Given the description of an element on the screen output the (x, y) to click on. 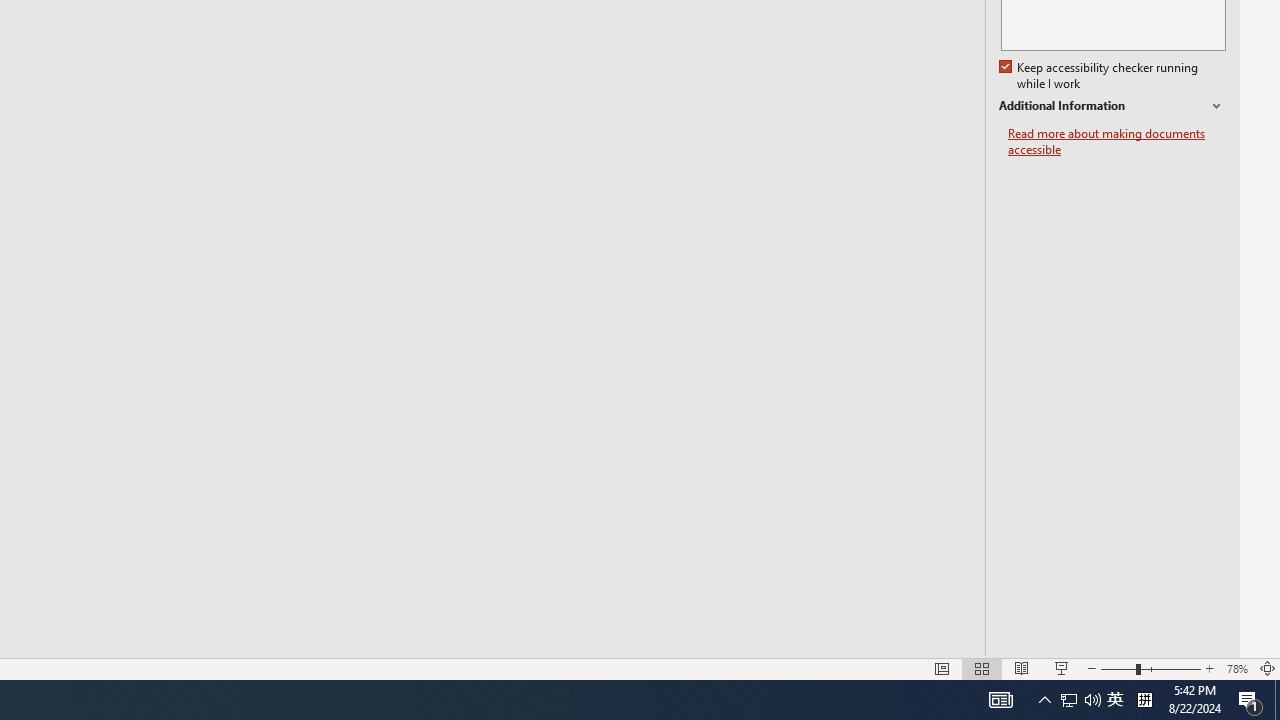
Keep accessibility checker running while I work (1099, 76)
Read more about making documents accessible (1117, 142)
Additional Information (1112, 106)
Zoom 78% (1236, 668)
